Given the description of an element on the screen output the (x, y) to click on. 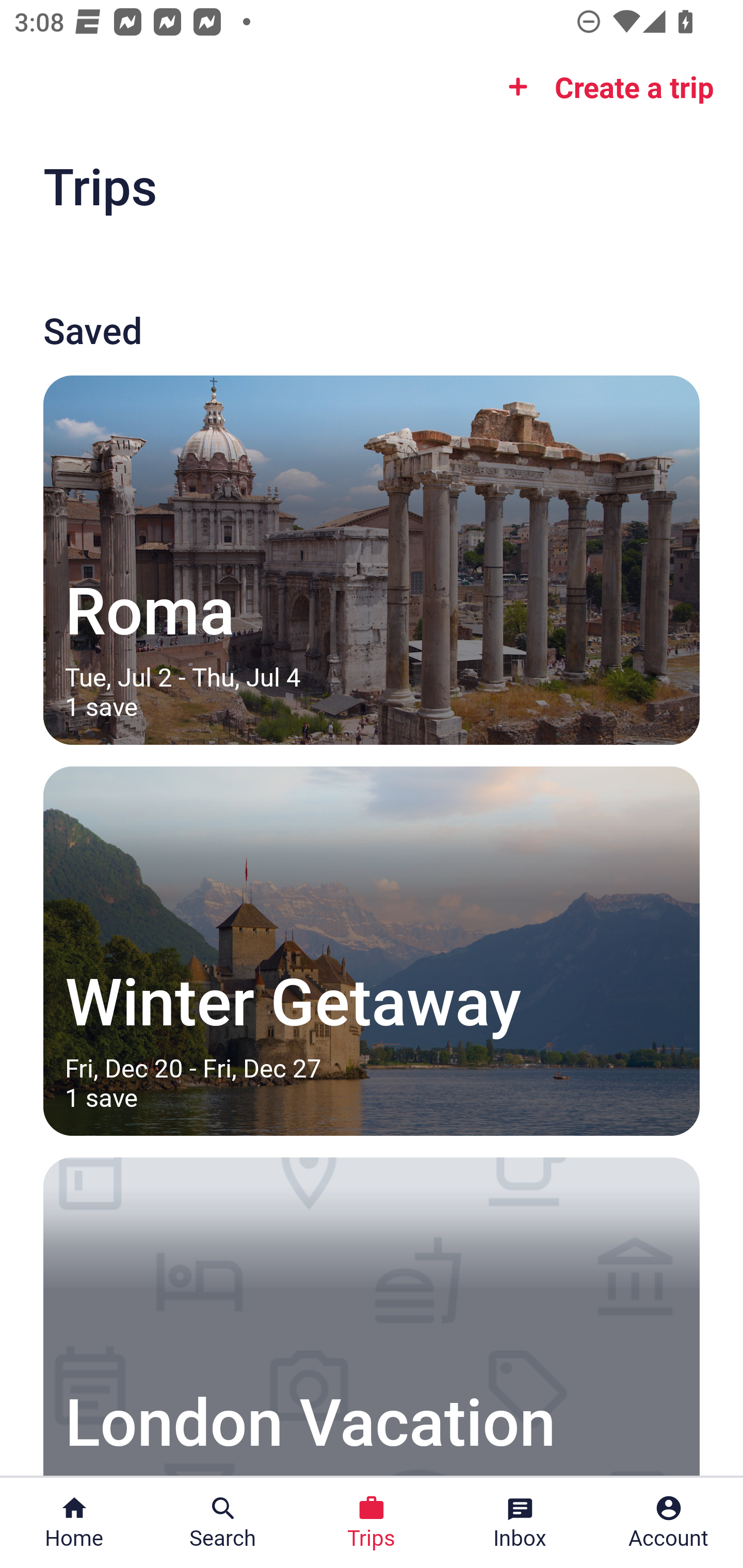
Create a trip Create a trip Button (605, 86)
Home Home Button (74, 1522)
Search Search Button (222, 1522)
Inbox Inbox Button (519, 1522)
Account Profile. Button (668, 1522)
